Given the description of an element on the screen output the (x, y) to click on. 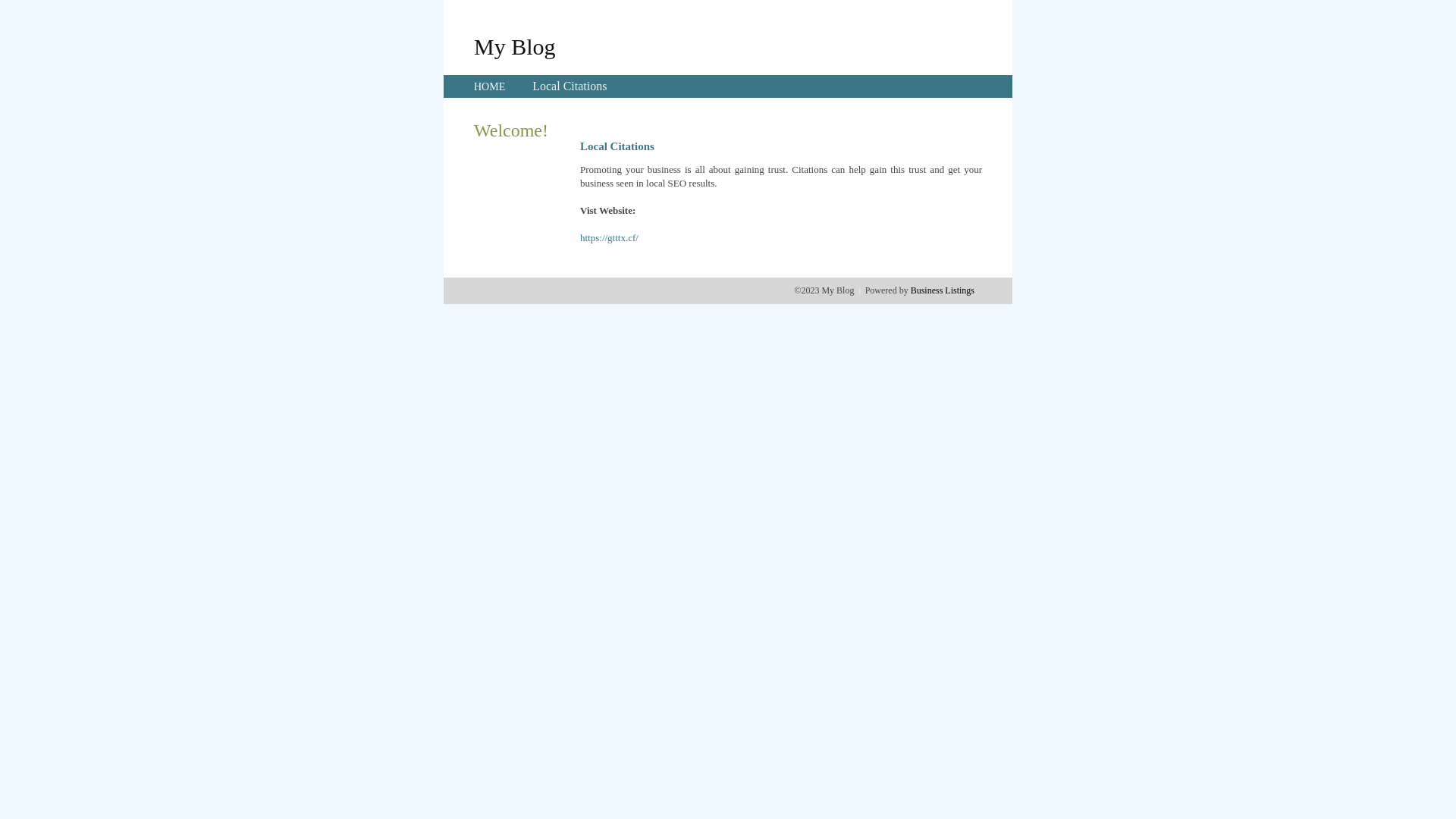
My Blog Element type: text (514, 46)
Local Citations Element type: text (569, 85)
Business Listings Element type: text (942, 290)
HOME Element type: text (489, 86)
https://gtttx.cf/ Element type: text (609, 237)
